Given the description of an element on the screen output the (x, y) to click on. 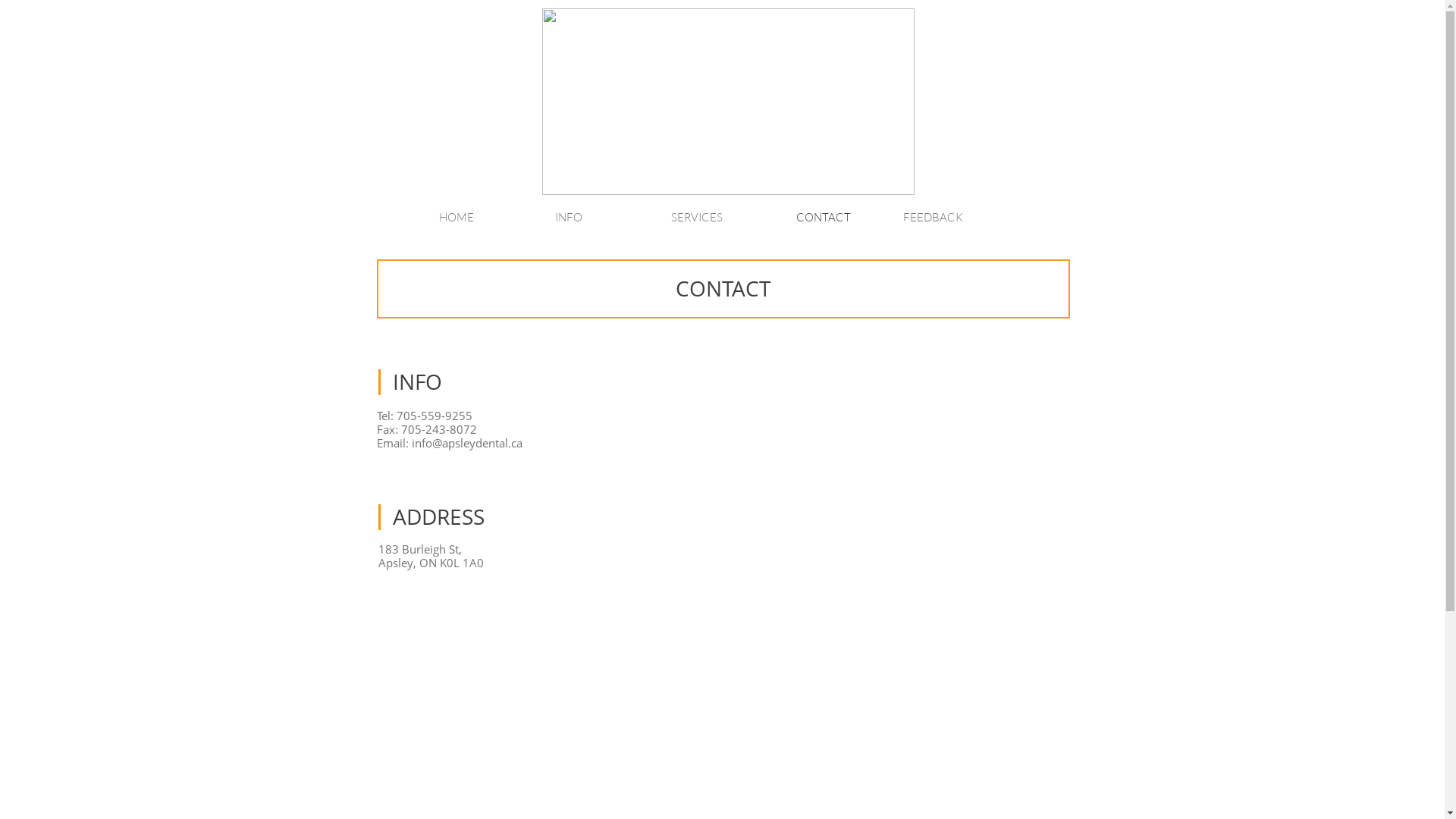
SERVICES Element type: text (724, 217)
HOME Element type: text (492, 217)
CONTACT Element type: text (841, 217)
FEEDBACK Element type: text (956, 217)
INFO Element type: text (609, 217)
